Given the description of an element on the screen output the (x, y) to click on. 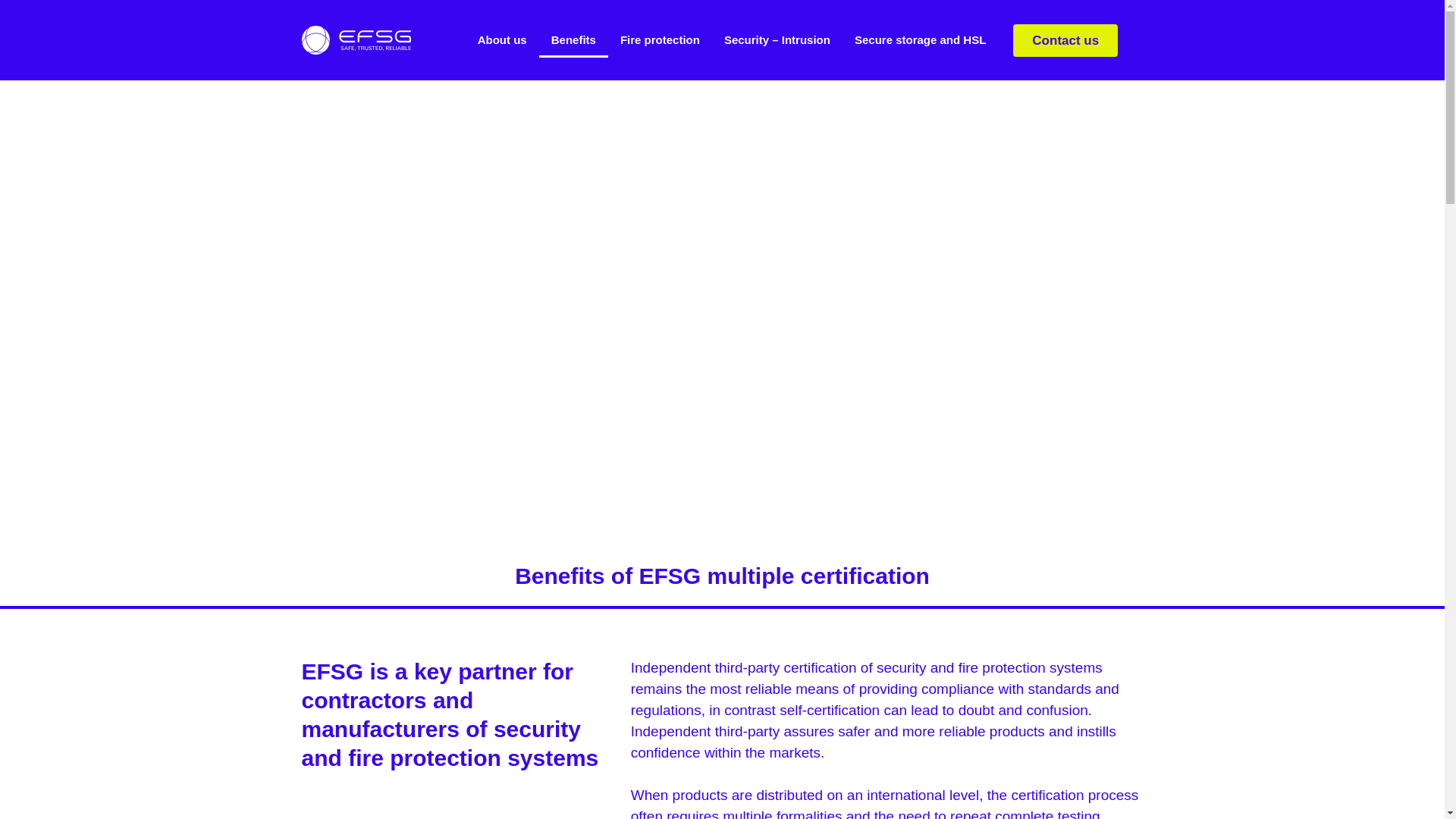
Contact us (1065, 40)
Fire protection (659, 39)
About us (501, 39)
Secure storage and HSL (920, 39)
Benefits (573, 39)
